Given the description of an element on the screen output the (x, y) to click on. 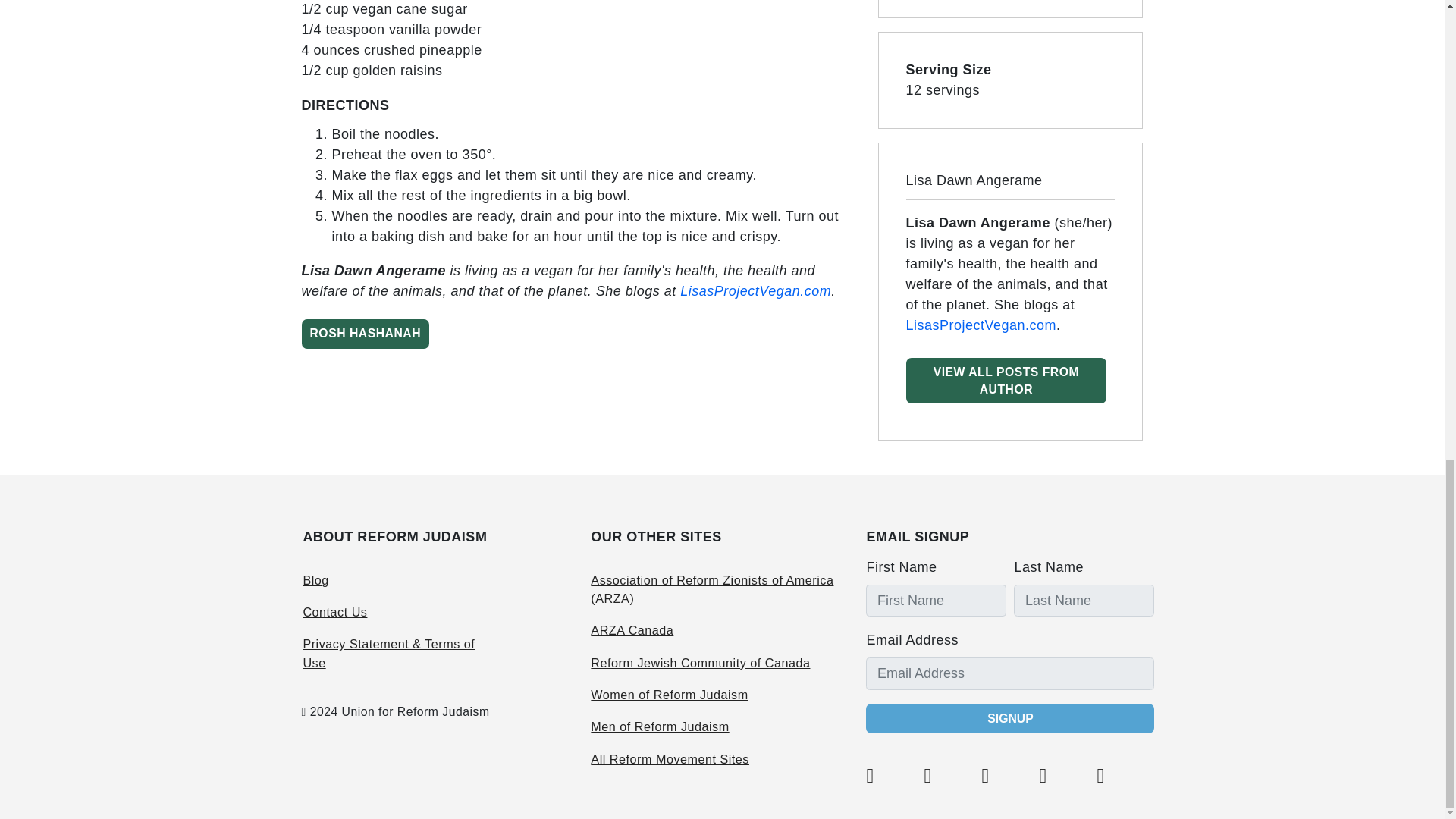
Signup (1010, 718)
